Given the description of an element on the screen output the (x, y) to click on. 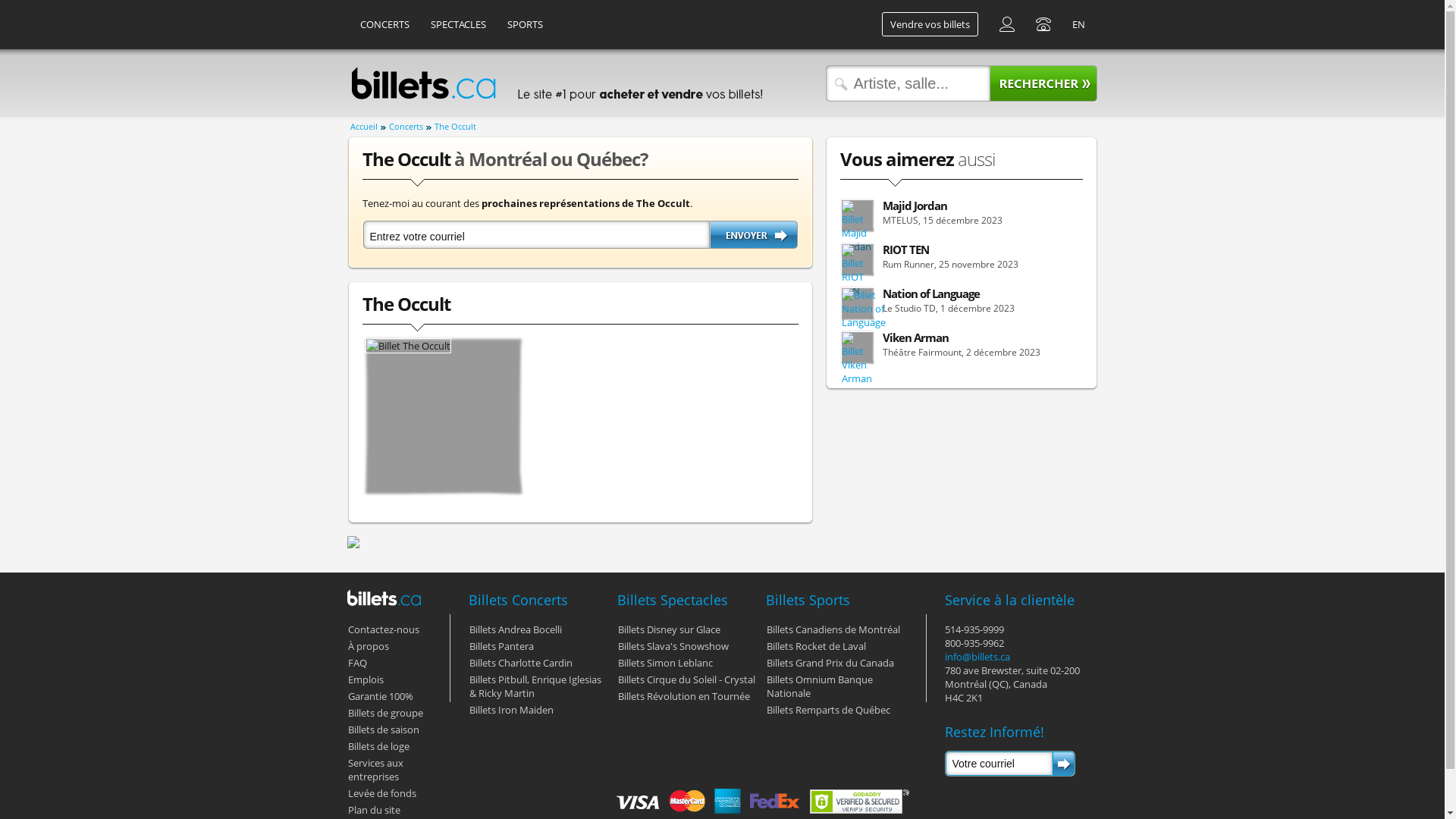
Billets Charlotte Cardin Element type: text (519, 662)
Billets Grand Prix du Canada Element type: text (829, 662)
Billets Andrea Bocelli Element type: text (514, 629)
SPORTS Element type: text (524, 24)
Billet RIOT TEN Element type: hover (857, 270)
Vendre vos billets Element type: text (930, 24)
Billets Rocket de Laval Element type: text (815, 645)
Concerts Element type: text (409, 127)
Billets de groupe Element type: text (384, 712)
Vendre vos billets Element type: text (929, 24)
Billets Simon Leblanc Element type: text (664, 662)
Billets de saison Element type: text (382, 729)
SPECTACLES Element type: text (457, 24)
FAQ Element type: text (356, 662)
Billets Slava's Snowshow Element type: text (672, 645)
Billet Majid Jordan Element type: hover (857, 226)
Contactez-nous Element type: text (382, 629)
Billets Omnium Banque Nationale Element type: text (818, 685)
Billets Pantera Element type: text (500, 645)
Billets Concerts Element type: text (517, 599)
EN Element type: text (1077, 24)
Plan du site Element type: text (373, 809)
Billets.ca - Accueil Element type: hover (383, 597)
Billets Cirque du Soleil - Crystal Element type: text (685, 679)
Billets.ca - Accueil Element type: hover (422, 83)
Billets Disney sur Glace Element type: text (668, 629)
Billet Viken Arman Element type: hover (857, 358)
CONCERTS Element type: text (384, 24)
Billets Sports Element type: text (807, 599)
Billet Nation of Language Element type: hover (862, 308)
Services aux entreprises Element type: text (374, 769)
RIOT TEN
Rum Runner, 25 novembre 2023 Element type: text (961, 260)
Billet The Occult Element type: hover (408, 345)
Accueil Element type: text (367, 127)
Billets de loge Element type: text (377, 746)
Billets Pitbull, Enrique Iglesias & Ricky Martin Element type: text (534, 685)
Emplois Element type: text (364, 679)
Le site #1 pour acheter et vendre vos billets! Element type: hover (638, 83)
info@billets.ca Element type: text (977, 656)
Garantie 100% Element type: text (379, 695)
Billets Iron Maiden Element type: text (510, 709)
Billets Spectacles Element type: text (672, 599)
